Given the description of an element on the screen output the (x, y) to click on. 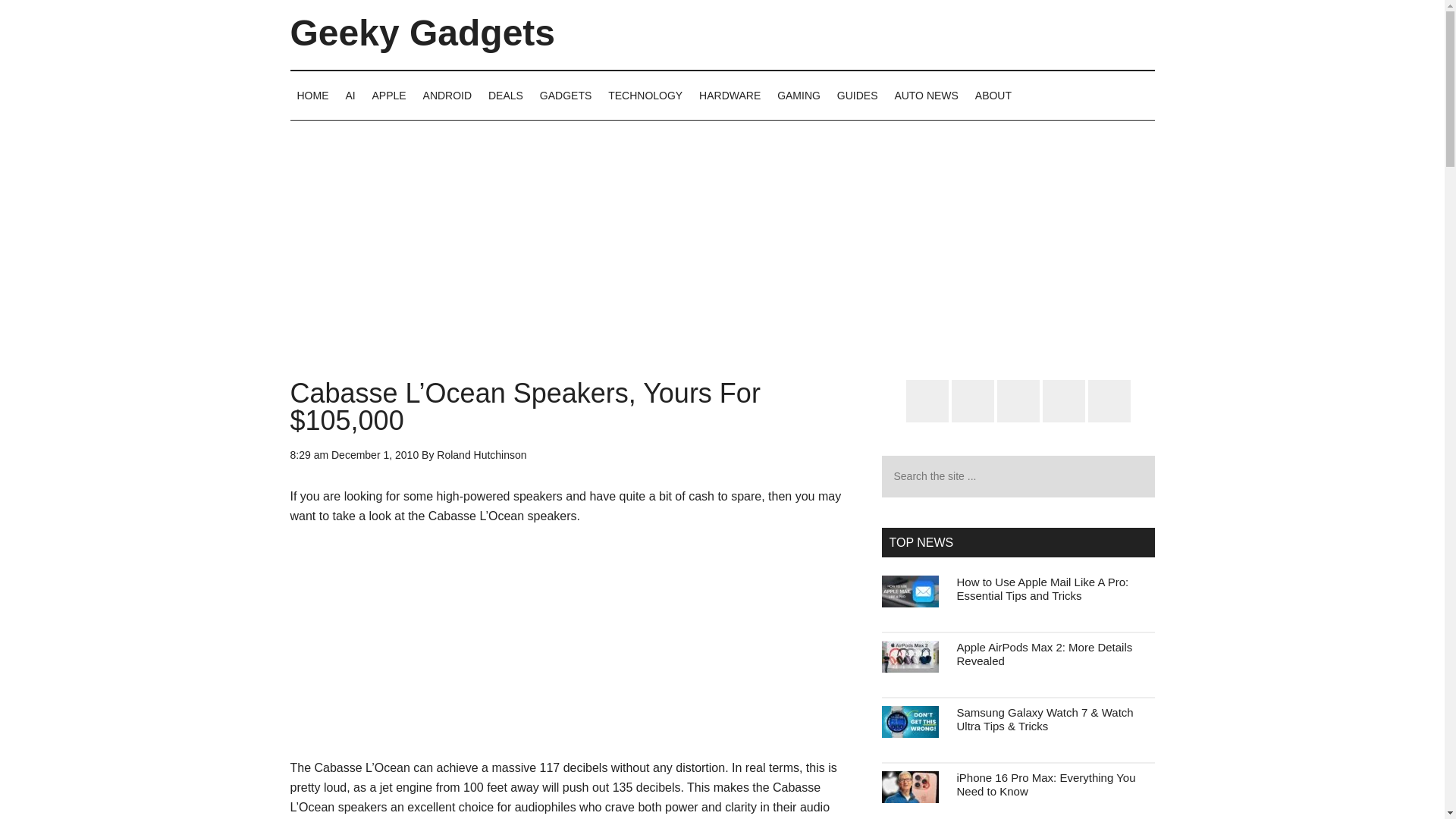
GADGETS (565, 95)
AUTO NEWS (925, 95)
TECHNOLOGY (644, 95)
GUIDES (857, 95)
DEALS (505, 95)
GAMING (798, 95)
How to Use Apple Mail Like A Pro: Essential Tips and Tricks (1042, 588)
Roland Hutchinson (480, 454)
ABOUT (992, 95)
Apple AirPods Max 2: More Details Revealed (1044, 653)
